Given the description of an element on the screen output the (x, y) to click on. 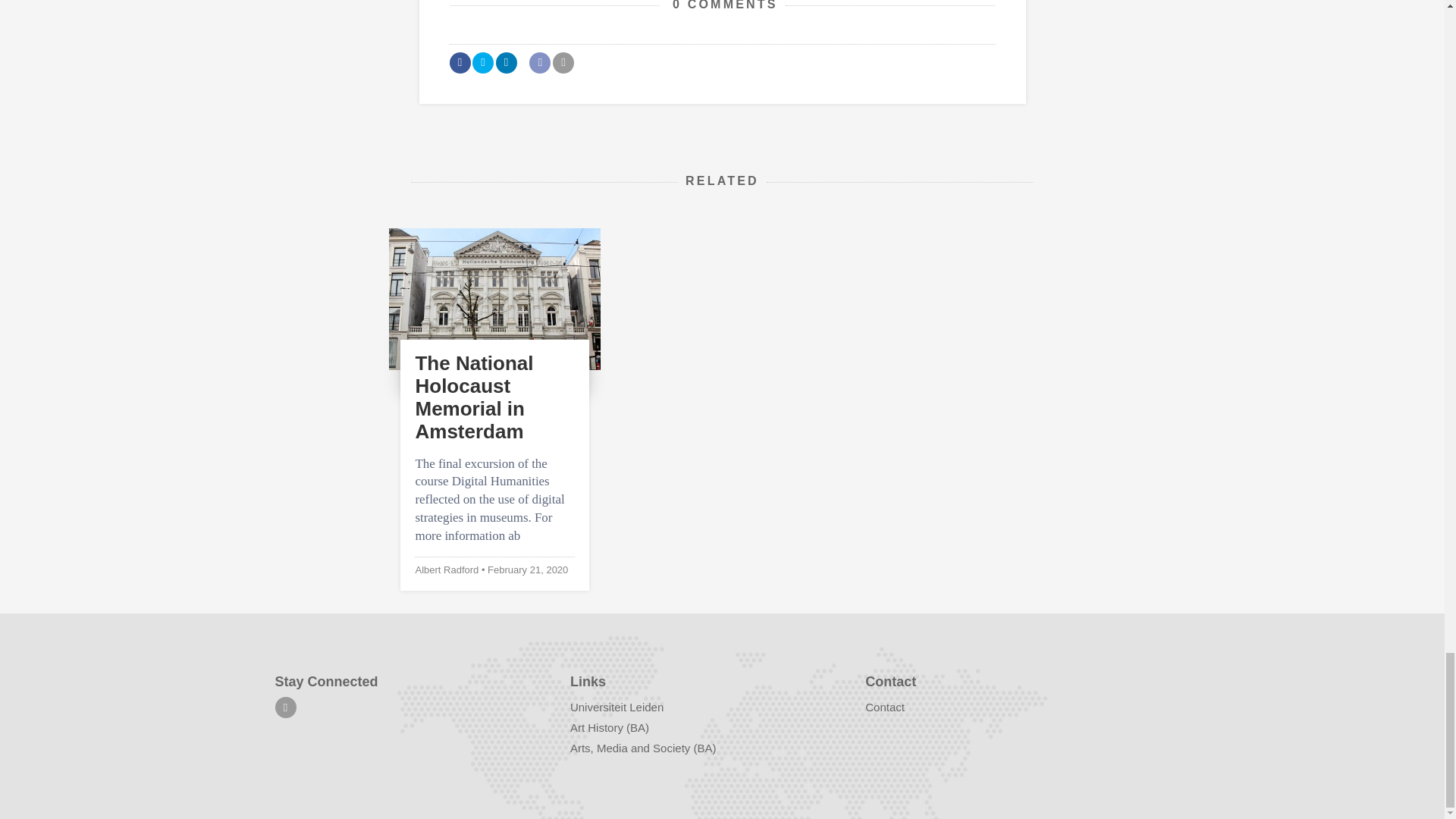
Contact (884, 707)
Print (563, 62)
Universiteit Leiden (616, 707)
